Given the description of an element on the screen output the (x, y) to click on. 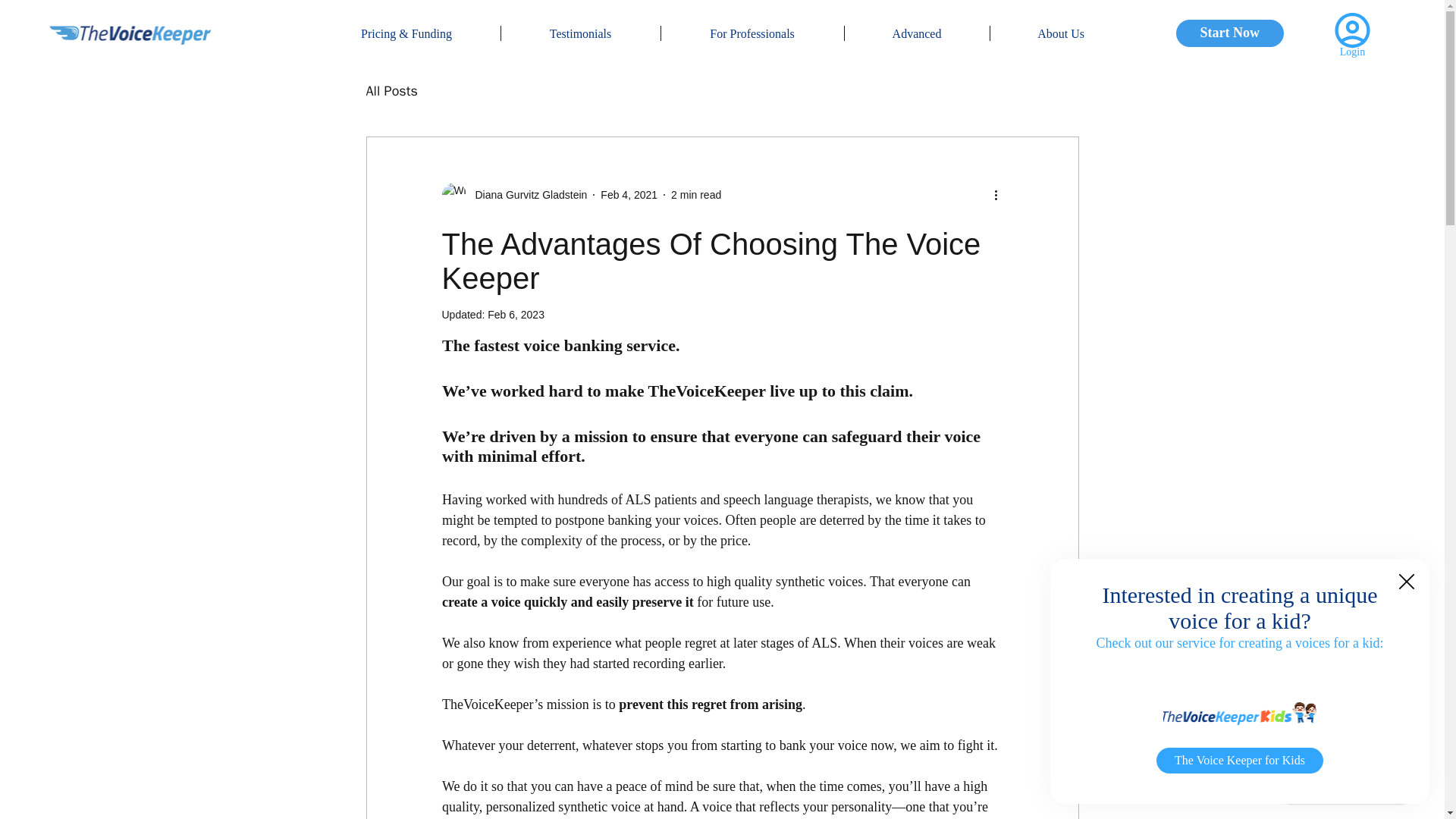
For Professionals (752, 32)
2 min read (695, 194)
Feb 4, 2021 (628, 194)
Wix Chat (1349, 786)
Login (1352, 51)
About Us (1061, 32)
Back to site (1406, 582)
Start Now (1230, 32)
Testimonials (580, 32)
Diana Gurvitz Gladstein (525, 195)
Feb 6, 2023 (515, 314)
Diana Gurvitz Gladstein (513, 194)
All Posts (390, 90)
